Given the description of an element on the screen output the (x, y) to click on. 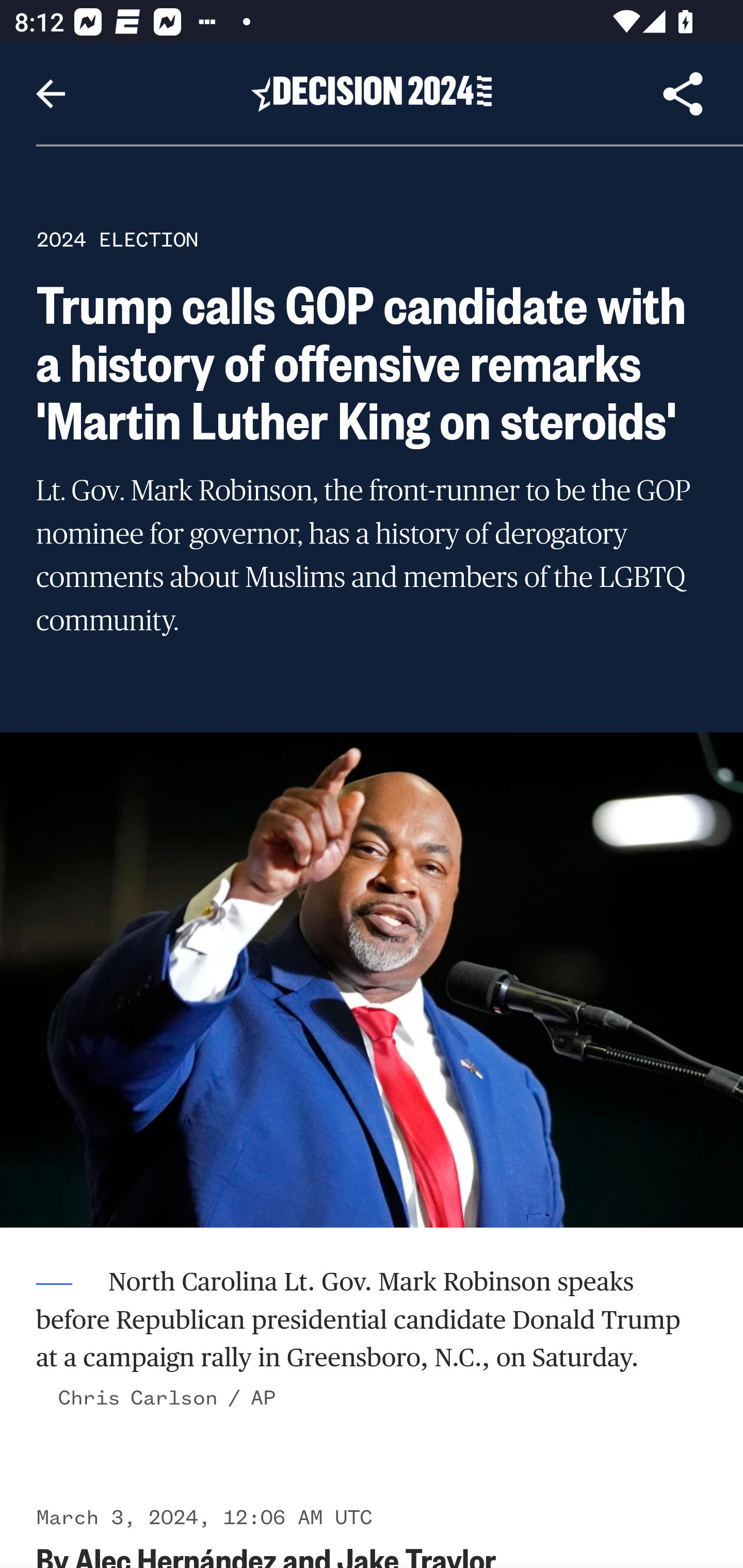
Navigate up (50, 93)
Share Article, button (683, 94)
Header, Decision 2024 (371, 93)
2024 ELECTION (117, 239)
